Given the description of an element on the screen output the (x, y) to click on. 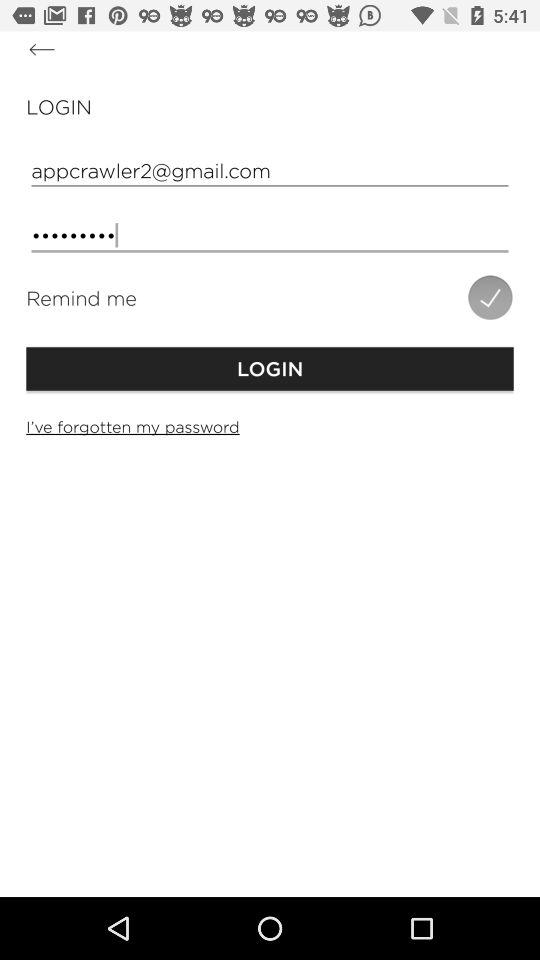
turn on the icon next to the remind me item (490, 297)
